Given the description of an element on the screen output the (x, y) to click on. 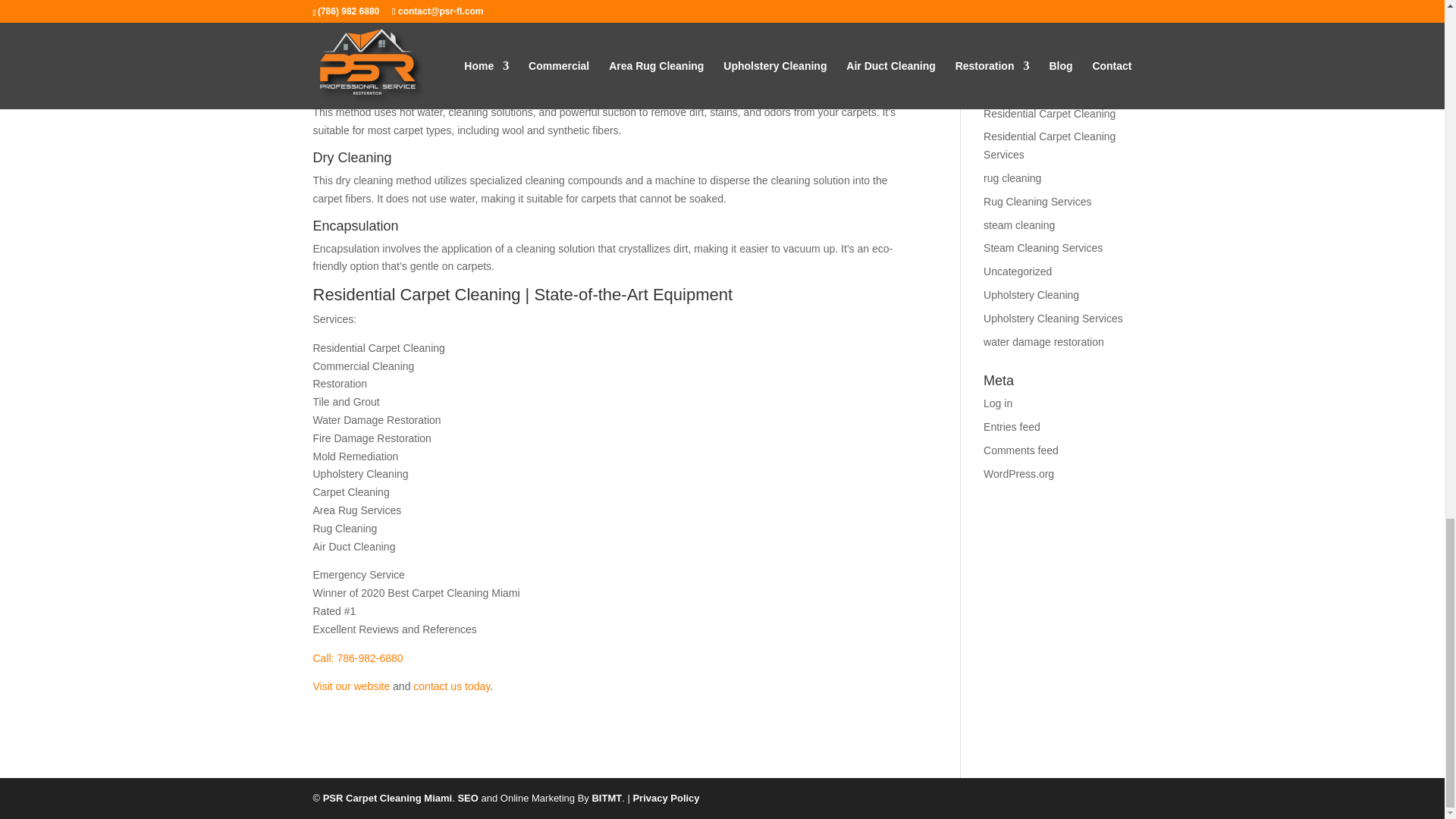
Privacy Policy (664, 797)
Bitmt (606, 797)
PSR Carpet Cleaning Miami (387, 797)
Seo (467, 797)
